Given the description of an element on the screen output the (x, y) to click on. 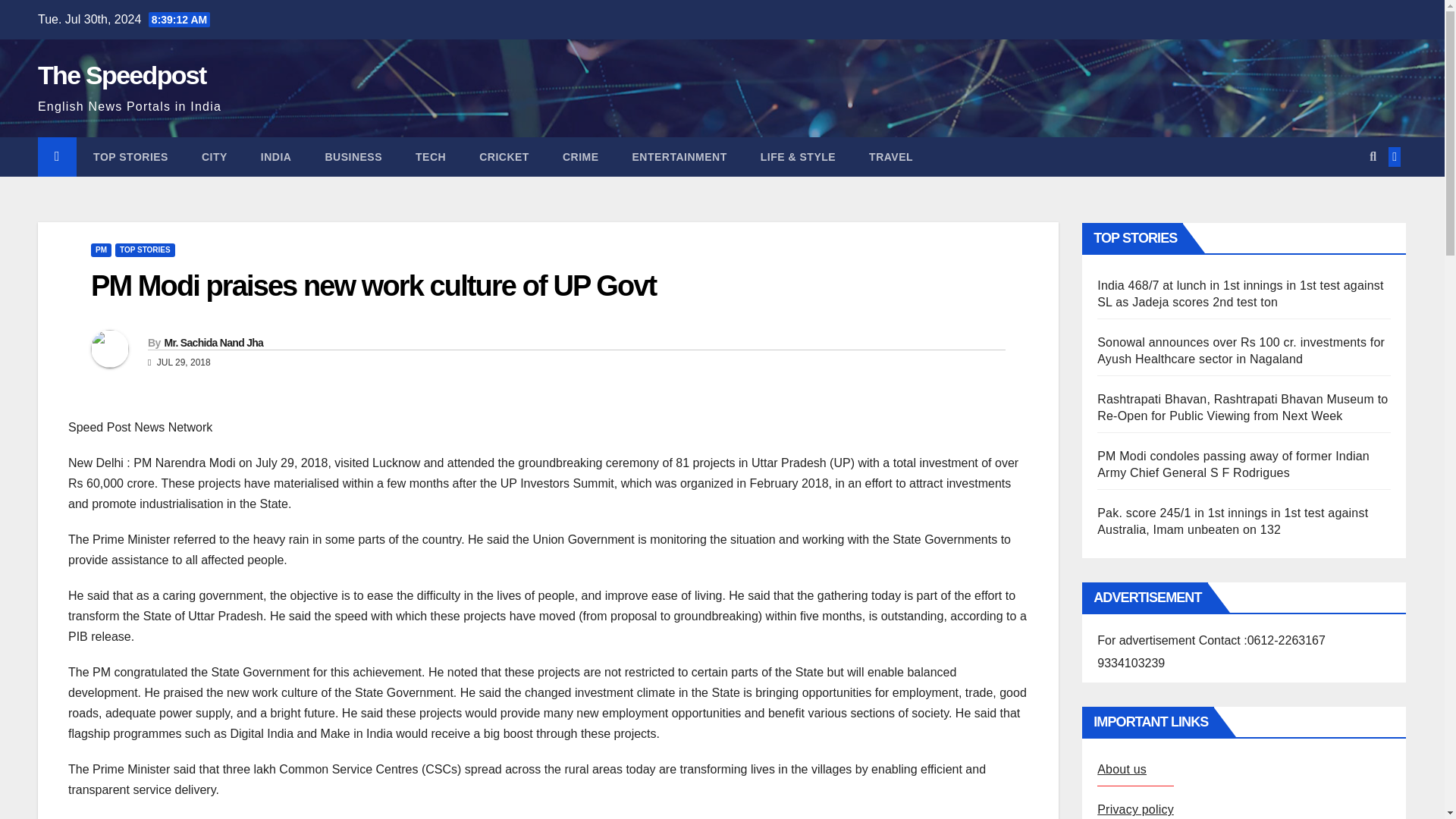
TOP STORIES (130, 156)
Mr. Sachida Nand Jha (213, 342)
City (214, 156)
TECH (430, 156)
Tech (430, 156)
CRICKET (504, 156)
CITY (214, 156)
BUSINESS (352, 156)
PM Modi praises new work culture of UP Govt (373, 286)
Entertainment (679, 156)
Business (352, 156)
Travel (890, 156)
Permalink to: PM Modi praises new work culture of UP Govt (373, 286)
Top Stories (130, 156)
The Speedpost (121, 74)
